Given the description of an element on the screen output the (x, y) to click on. 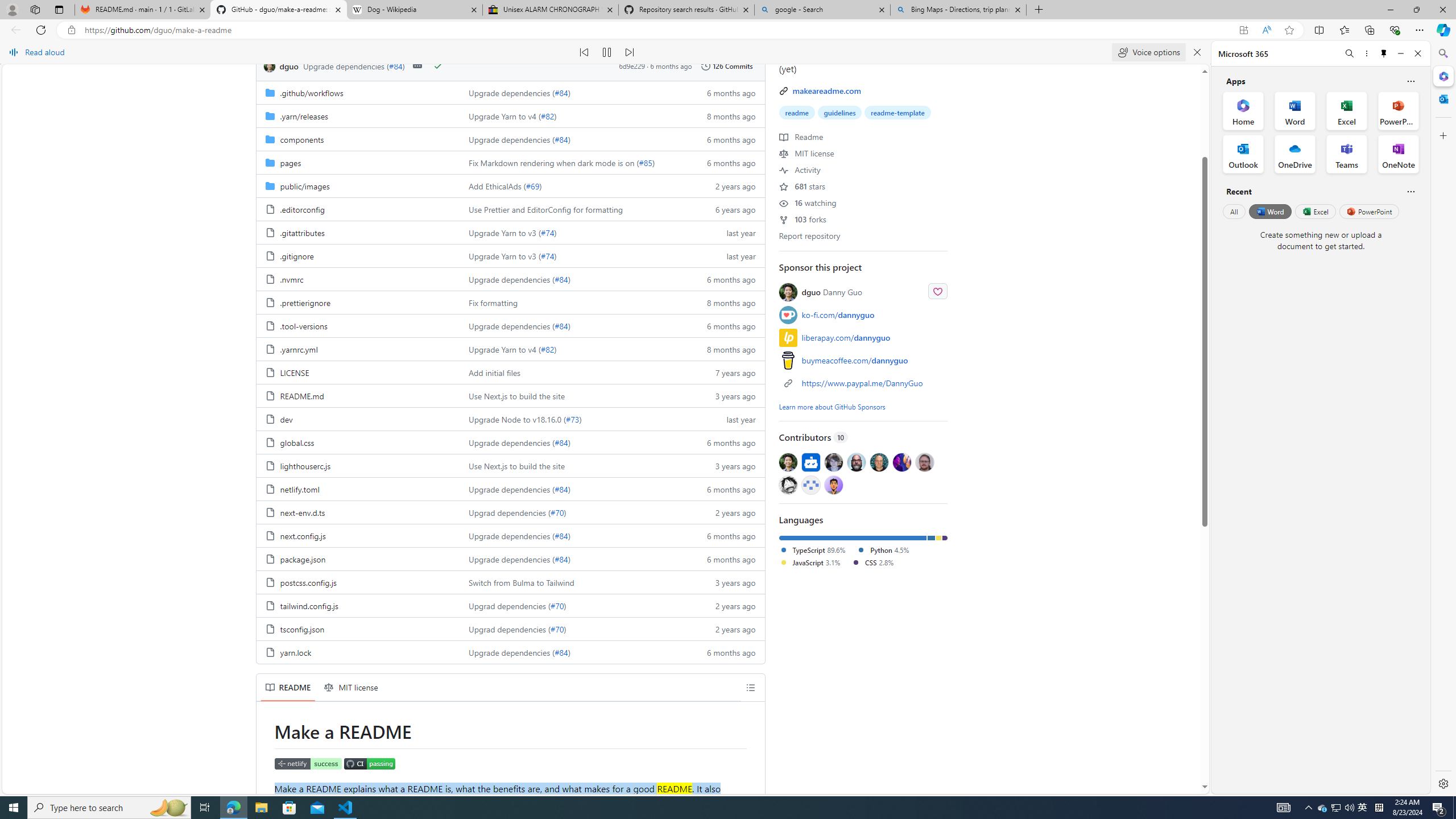
tailwind.config.js, (File) (358, 604)
AutomationID: folder-row-2 (510, 138)
MIT license (351, 687)
Class: Box-sc-g0xbh4-0 jEbBOT (510, 65)
@dependabot[bot] (809, 461)
readme (796, 112)
@aranciokov (924, 461)
#74 (547, 255)
AutomationID: folder-row-4 (510, 185)
#82 (547, 348)
tsconfig.json, (File) (358, 628)
AutomationID: folder-row-10 (510, 325)
JavaScript3.1% (814, 562)
.yarnrc.yml, (File) (358, 348)
